Given the description of an element on the screen output the (x, y) to click on. 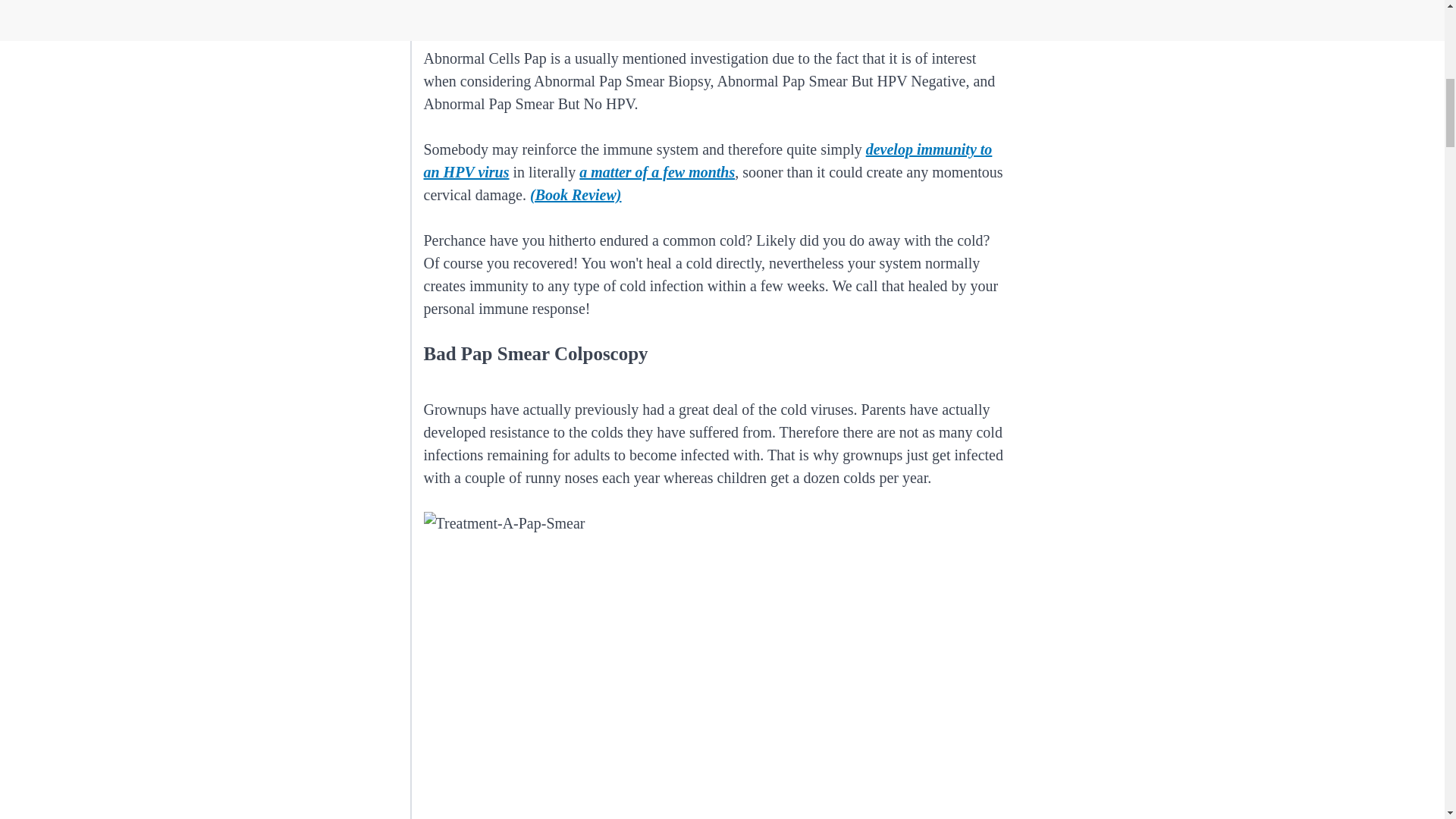
a matter of a few months (657, 171)
develop immunity to an HPV virus (707, 160)
